Given the description of an element on the screen output the (x, y) to click on. 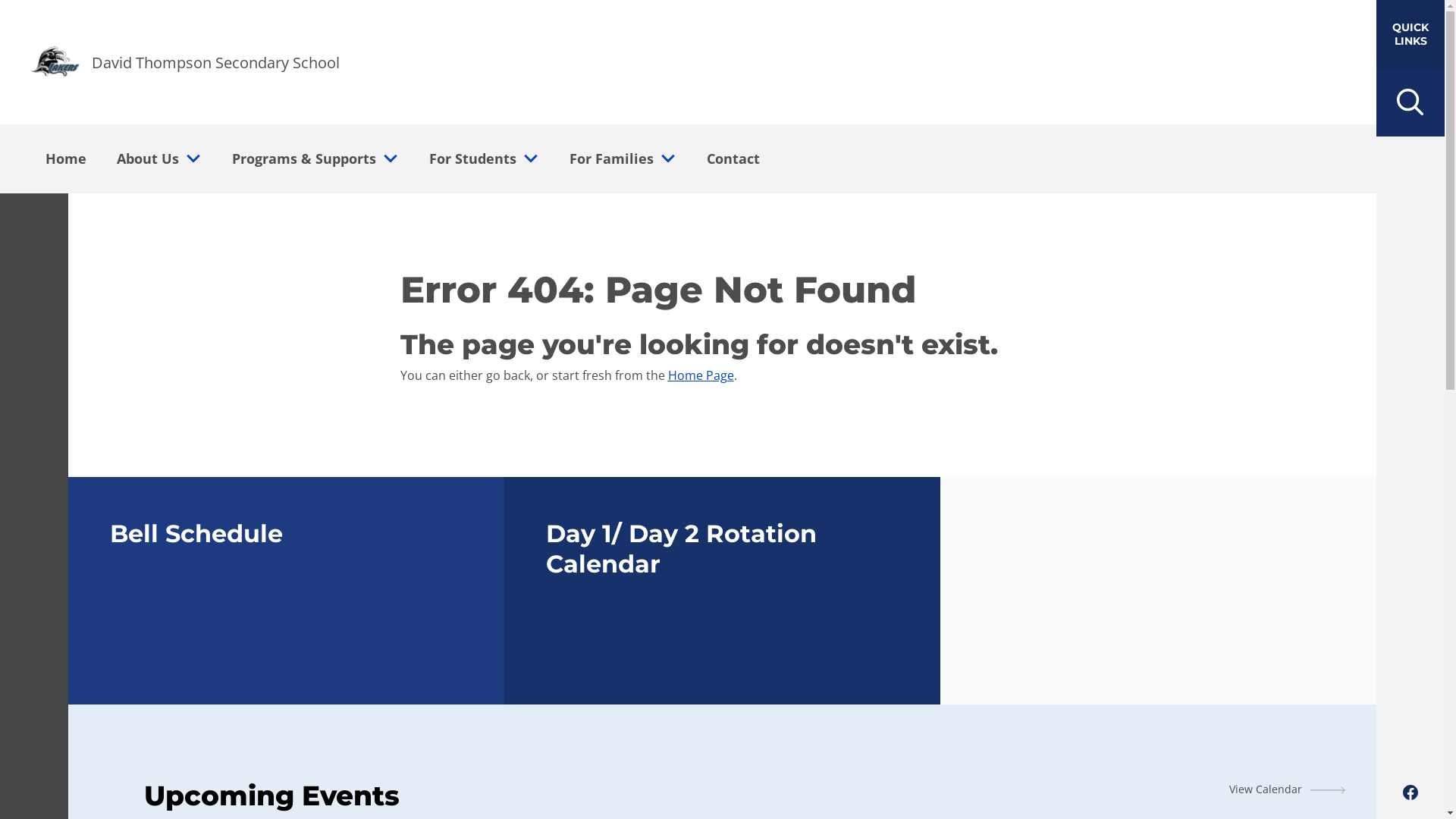
Facebook Element type: text (1410, 792)
For Families Element type: text (606, 158)
Contact Element type: text (733, 158)
QUICK LINKS Element type: text (1410, 34)
View Calendar Element type: text (1287, 788)
home Element type: hover (54, 62)
For Students Element type: text (468, 158)
Day 1/ Day 2 Rotation Calendar Element type: text (722, 590)
Programs & Supports Element type: text (299, 158)
About Us Element type: text (143, 158)
Bell Schedule Element type: text (286, 590)
Home Page Element type: text (700, 375)
Home Element type: text (65, 158)
